Given the description of an element on the screen output the (x, y) to click on. 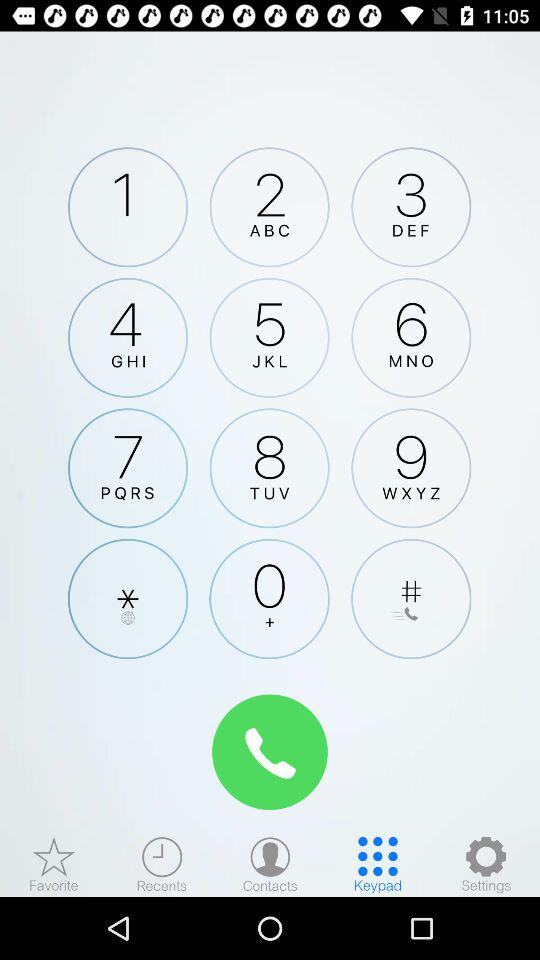
view different settings to call (485, 864)
